Given the description of an element on the screen output the (x, y) to click on. 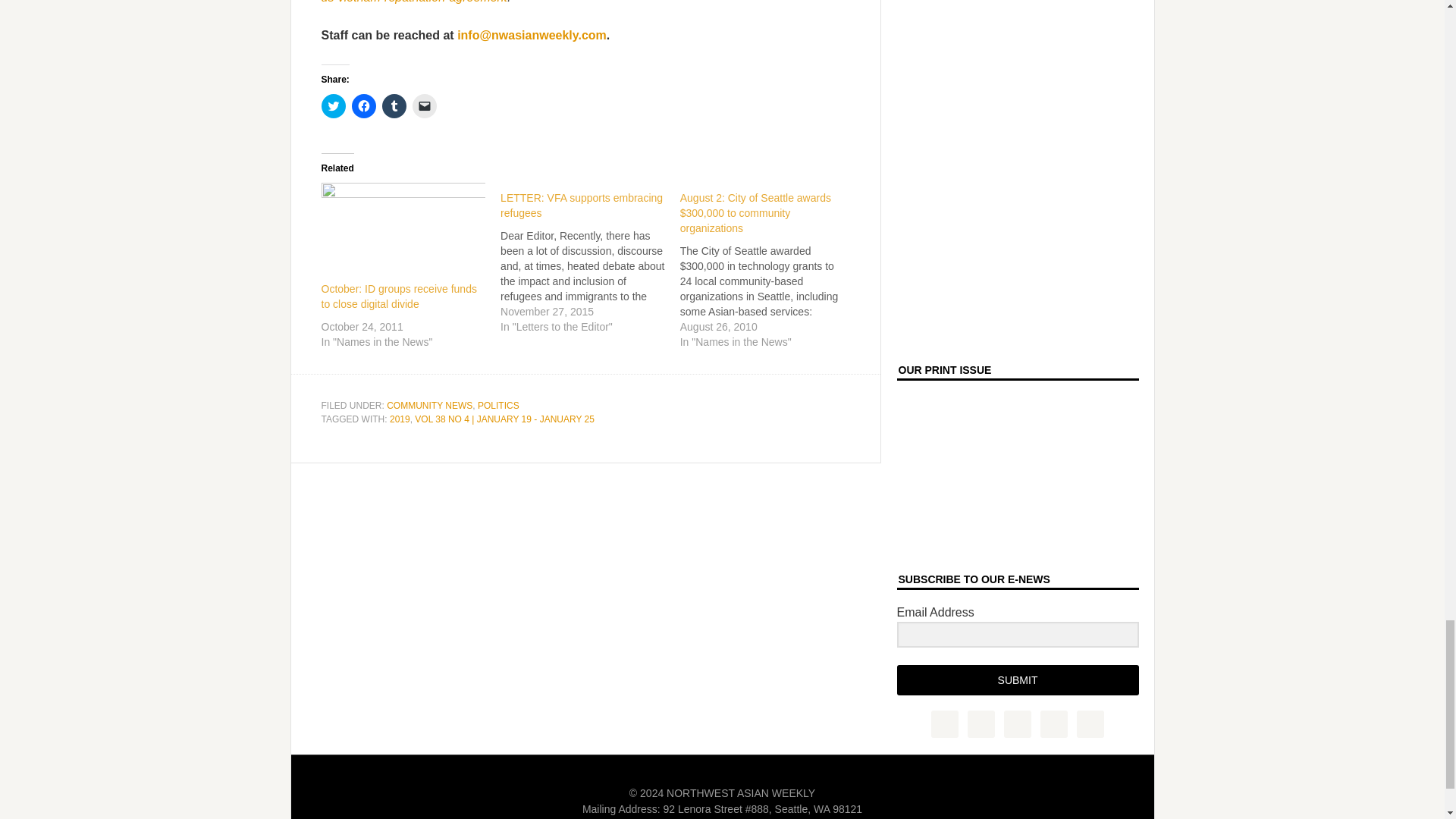
October: ID groups receive funds to close digital divide (403, 229)
LETTER: VFA supports embracing refugees (581, 205)
LETTER: VFA supports embracing refugees (589, 258)
Click to share on Facebook (363, 105)
October: ID groups receive funds to close digital divide (399, 296)
Click to share on Twitter (333, 105)
Click to share on Tumblr (393, 105)
Click to email a link to a friend (424, 105)
